Given the description of an element on the screen output the (x, y) to click on. 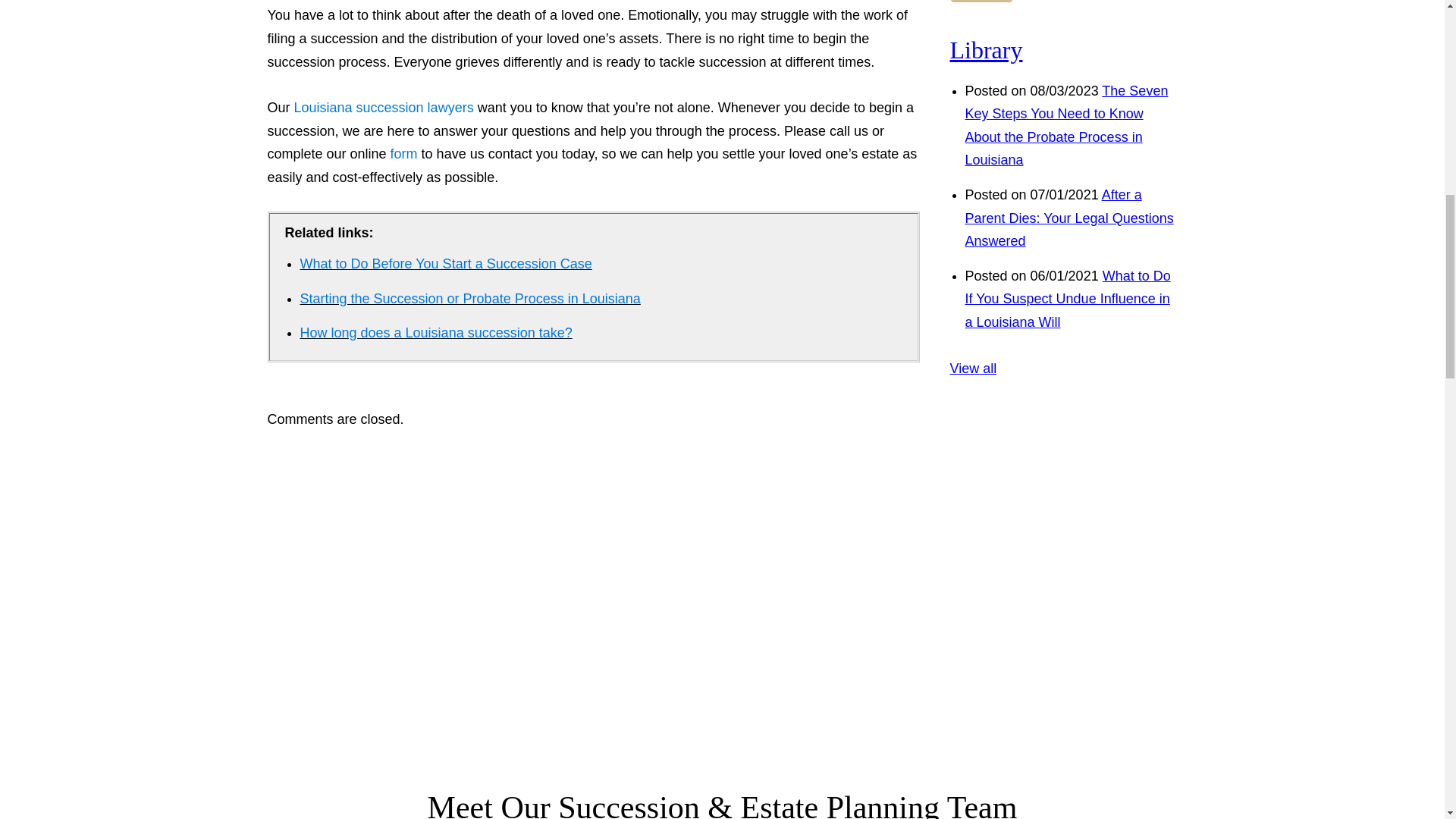
How long does a Louisiana succession take? (435, 332)
form (403, 153)
What to Do Before You Start a Succession Case (445, 263)
Louisiana succession lawyers (384, 107)
Starting the Succession or Probate Process in Louisiana (469, 298)
